Given the description of an element on the screen output the (x, y) to click on. 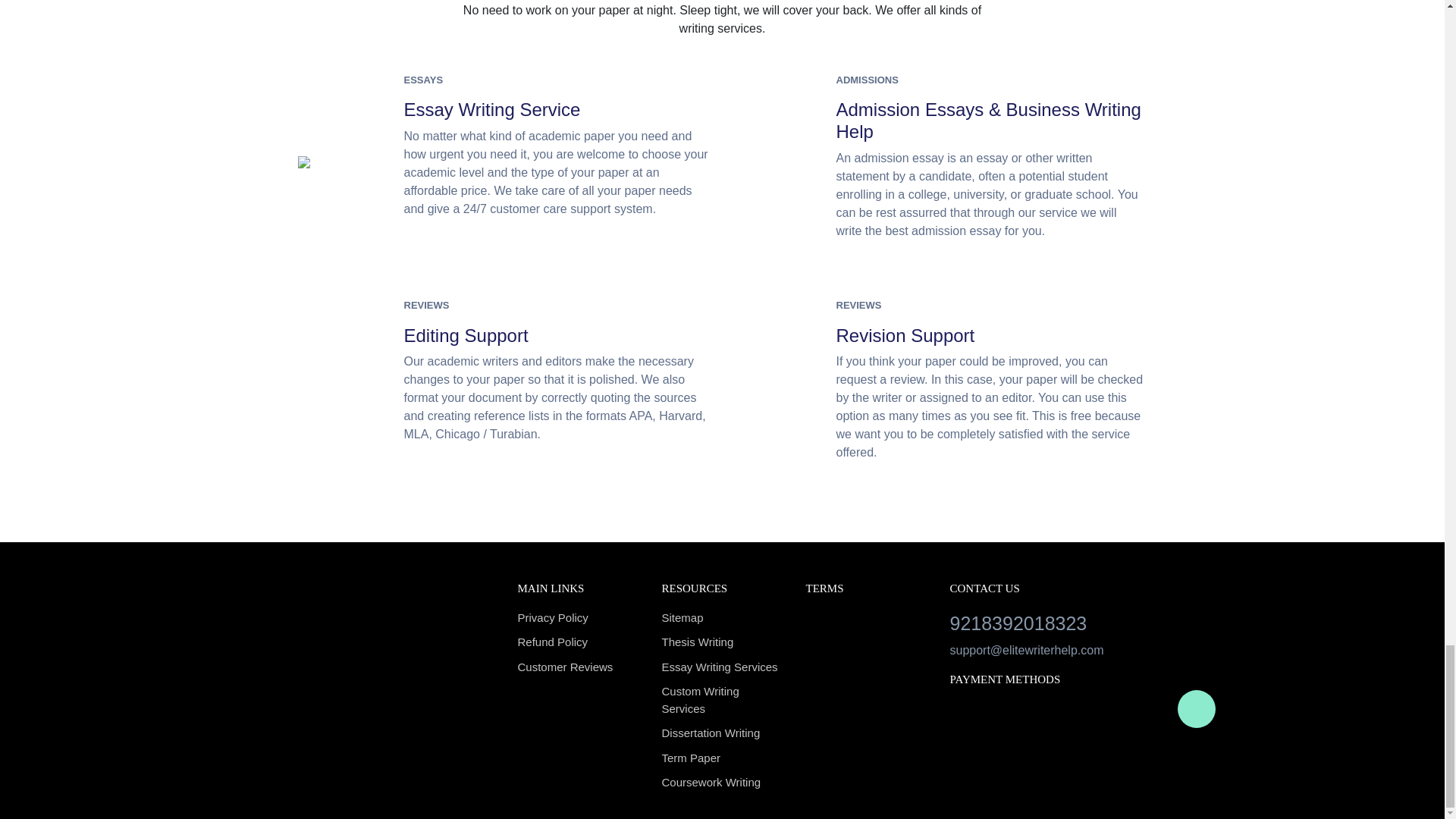
Customer Reviews (577, 667)
Custom Writing Services (722, 700)
Coursework Writing (722, 782)
Essay Writing Services (722, 667)
Dissertation Writing (722, 733)
Term Paper (722, 758)
Sitemap (722, 618)
Privacy Policy (577, 618)
Sitemap (722, 618)
Privacy Policy (577, 618)
Thesis Writing (722, 642)
Thesis Writing (722, 642)
Refund Policy (577, 642)
Refund Policy (577, 642)
Essay Writing Services (722, 667)
